Given the description of an element on the screen output the (x, y) to click on. 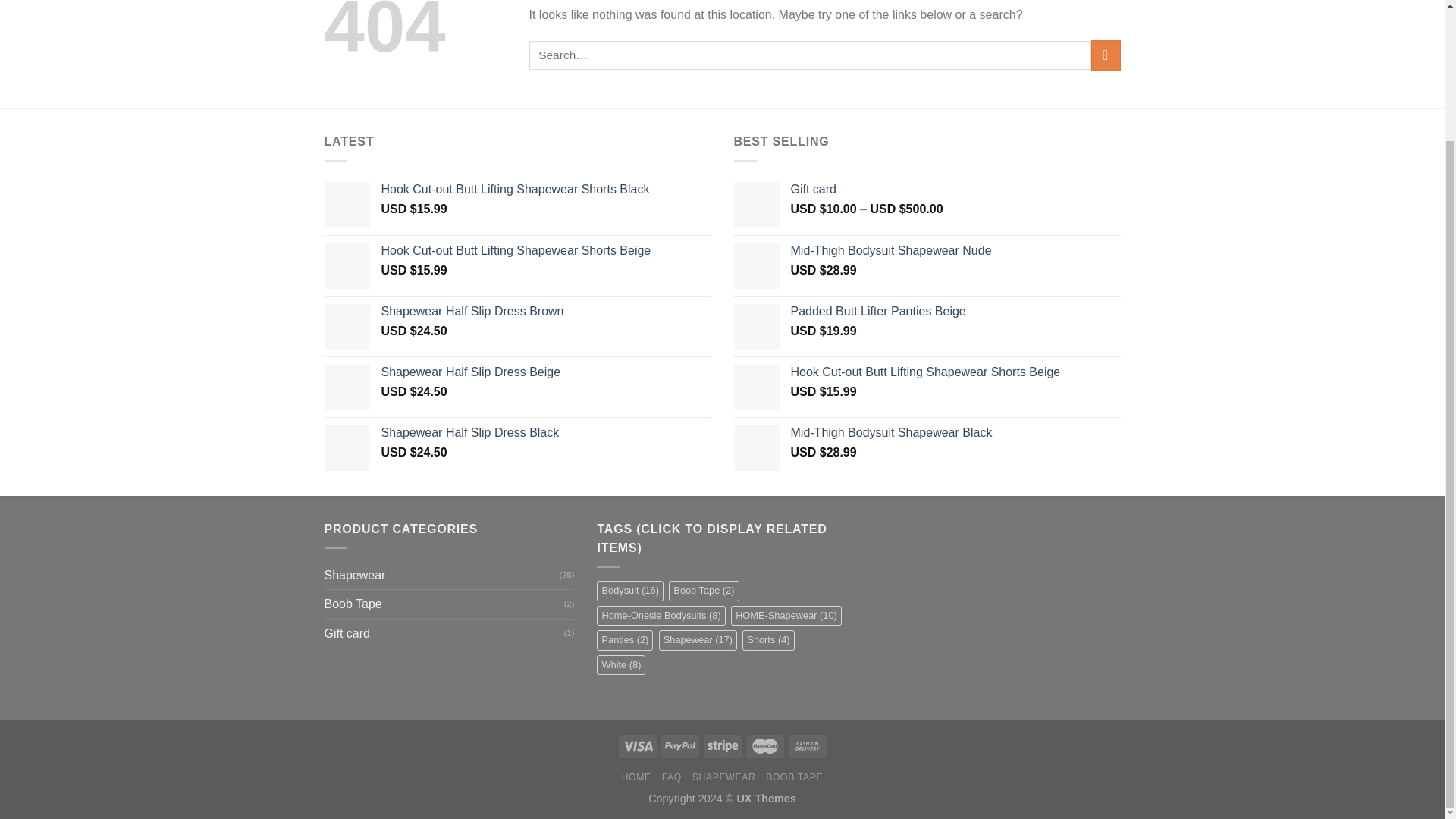
Gift card (954, 189)
Hook Cut-out Butt Lifting Shapewear Shorts Black (545, 189)
Hook Cut-out Butt Lifting Shapewear Shorts Beige (954, 372)
Boob Tape (444, 604)
Shapewear Half Slip Dress Black (545, 433)
Hook Cut-out Butt Lifting Shapewear Shorts Beige (545, 251)
Padded Butt Lifter Panties Beige (954, 311)
Mid-Thigh Bodysuit Shapewear Black (954, 433)
Shapewear Half Slip Dress Beige (545, 372)
Shapewear Half Slip Dress Brown (545, 311)
